Given the description of an element on the screen output the (x, y) to click on. 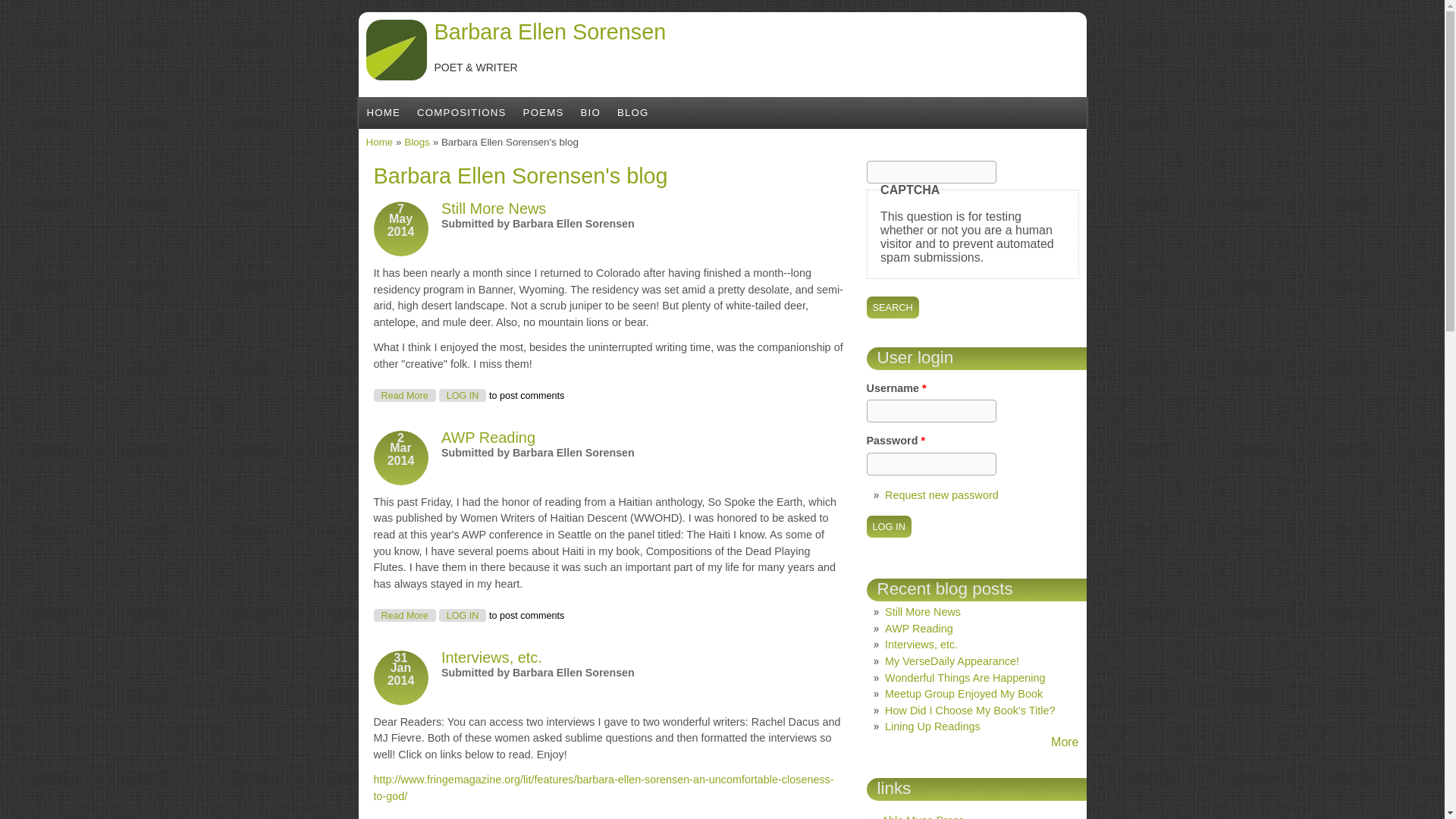
Interviews, etc. (491, 657)
LOG IN (403, 615)
AWP Reading (462, 615)
Request new password (403, 615)
Barbara Ellen Sorensen (941, 494)
Home (549, 31)
Log in (403, 395)
LOG IN (549, 31)
AWP Reading (888, 526)
POEMS (462, 395)
Blogs (488, 437)
Search (543, 112)
Interviews, etc. (416, 142)
